Given the description of an element on the screen output the (x, y) to click on. 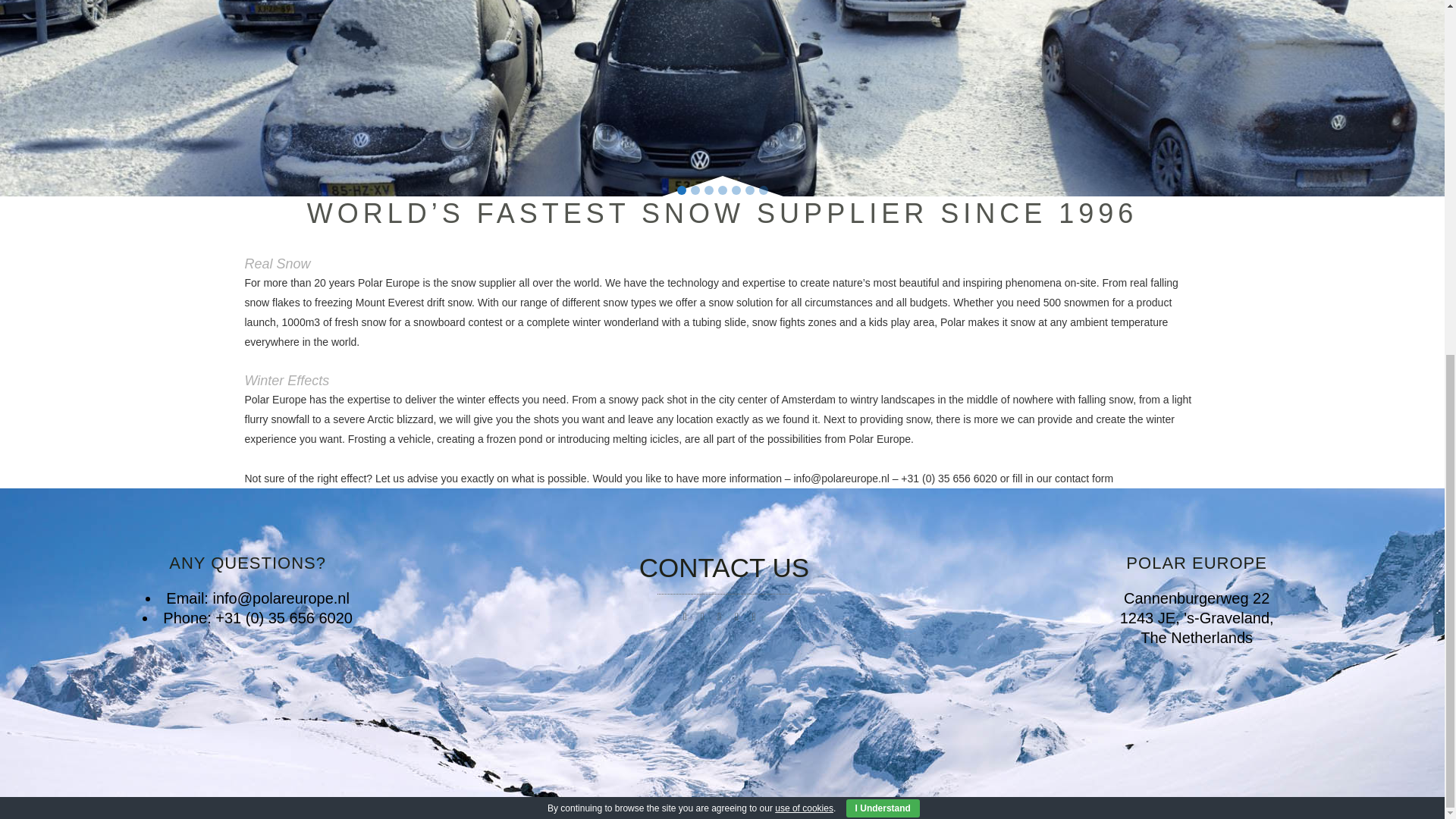
contact form (1083, 478)
